Given the description of an element on the screen output the (x, y) to click on. 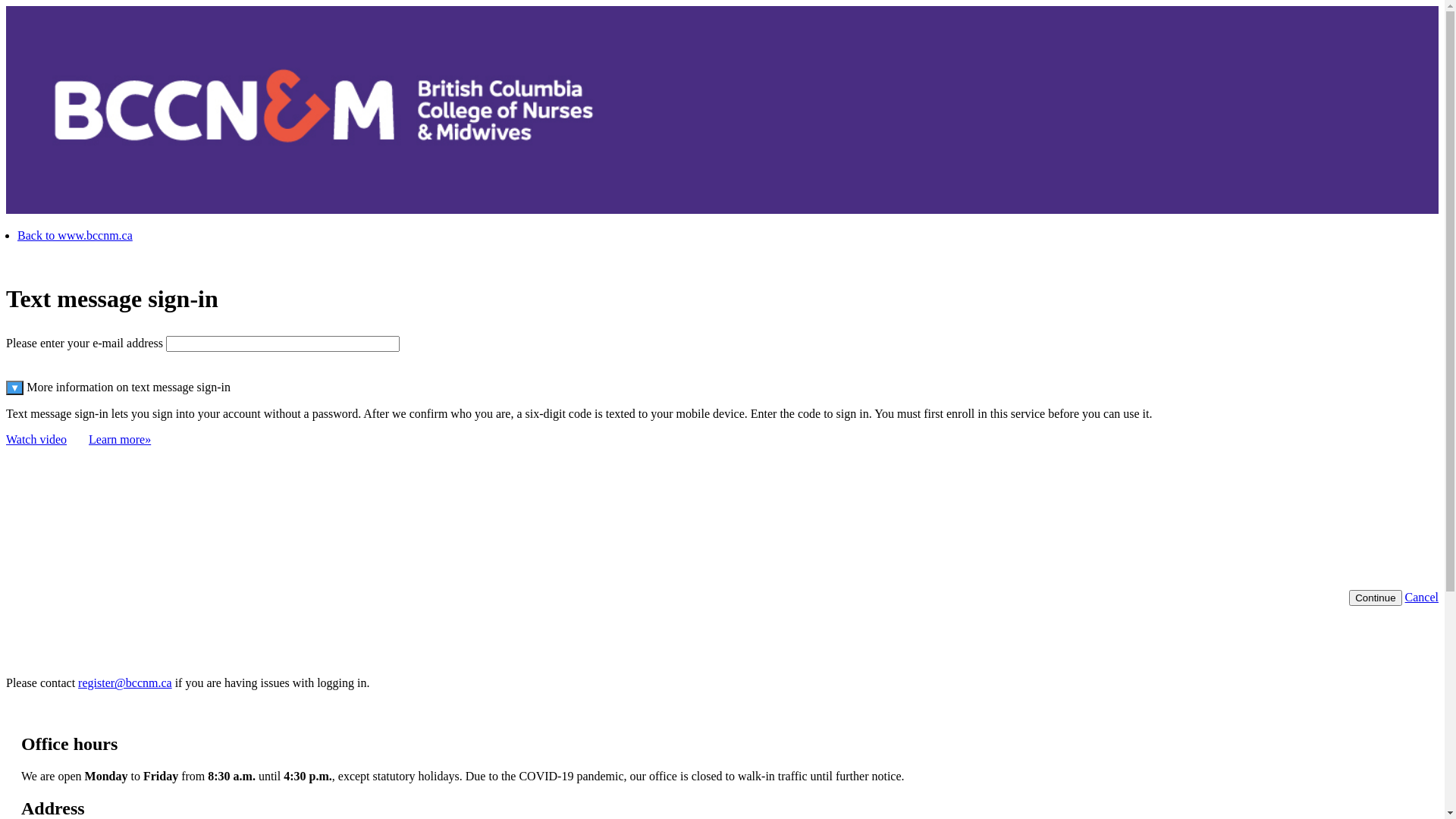
Back to www.bccnm.ca Element type: text (74, 235)
register@bccnm.ca Element type: text (125, 682)
Watch video Element type: text (36, 439)
Cancel Element type: text (1421, 596)
Continue Element type: text (1375, 597)
